Given the description of an element on the screen output the (x, y) to click on. 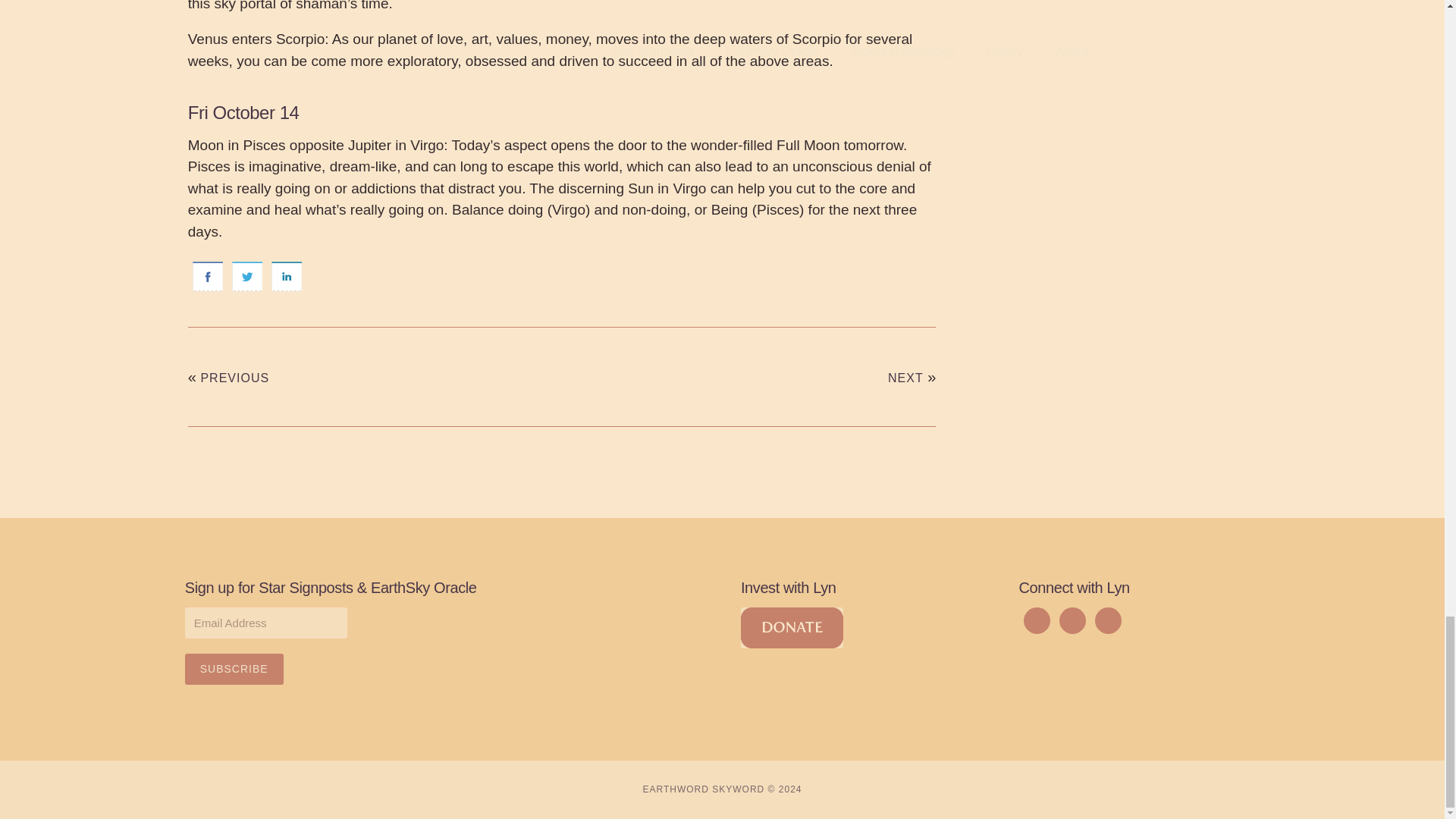
NEXT (905, 377)
Subscribe (233, 668)
Subscribe (233, 668)
PREVIOUS (234, 377)
twitter (246, 276)
linkedin (285, 276)
PayPal - The safer, easier way to pay online! (792, 627)
facebook (207, 276)
